Given the description of an element on the screen output the (x, y) to click on. 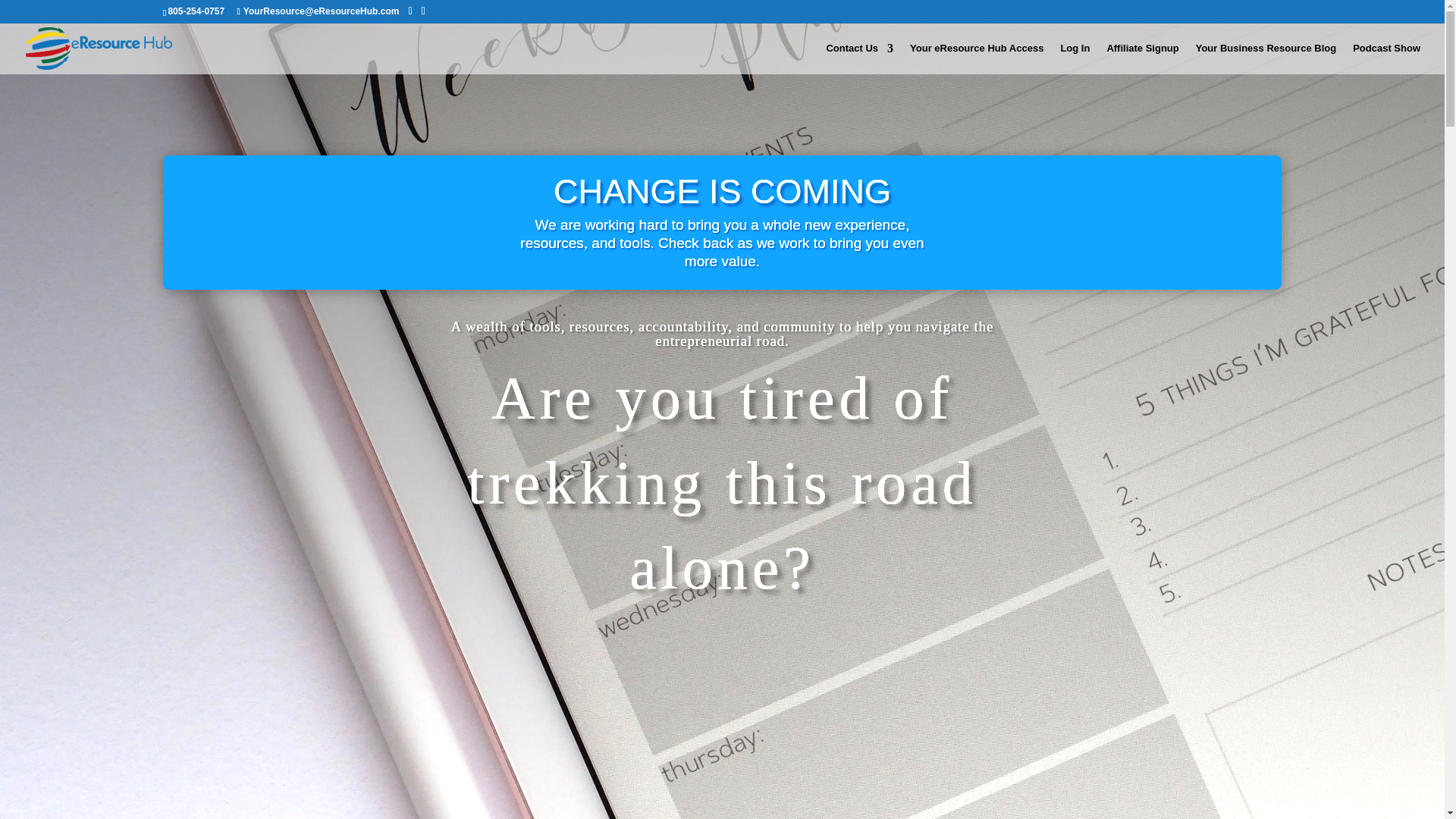
Podcast Show (1386, 58)
Affiliate Signup (1141, 58)
Your eResource Hub Access (976, 58)
Log In (1074, 58)
Contact Us (859, 58)
Your Business Resource Blog (1265, 58)
